Given the description of an element on the screen output the (x, y) to click on. 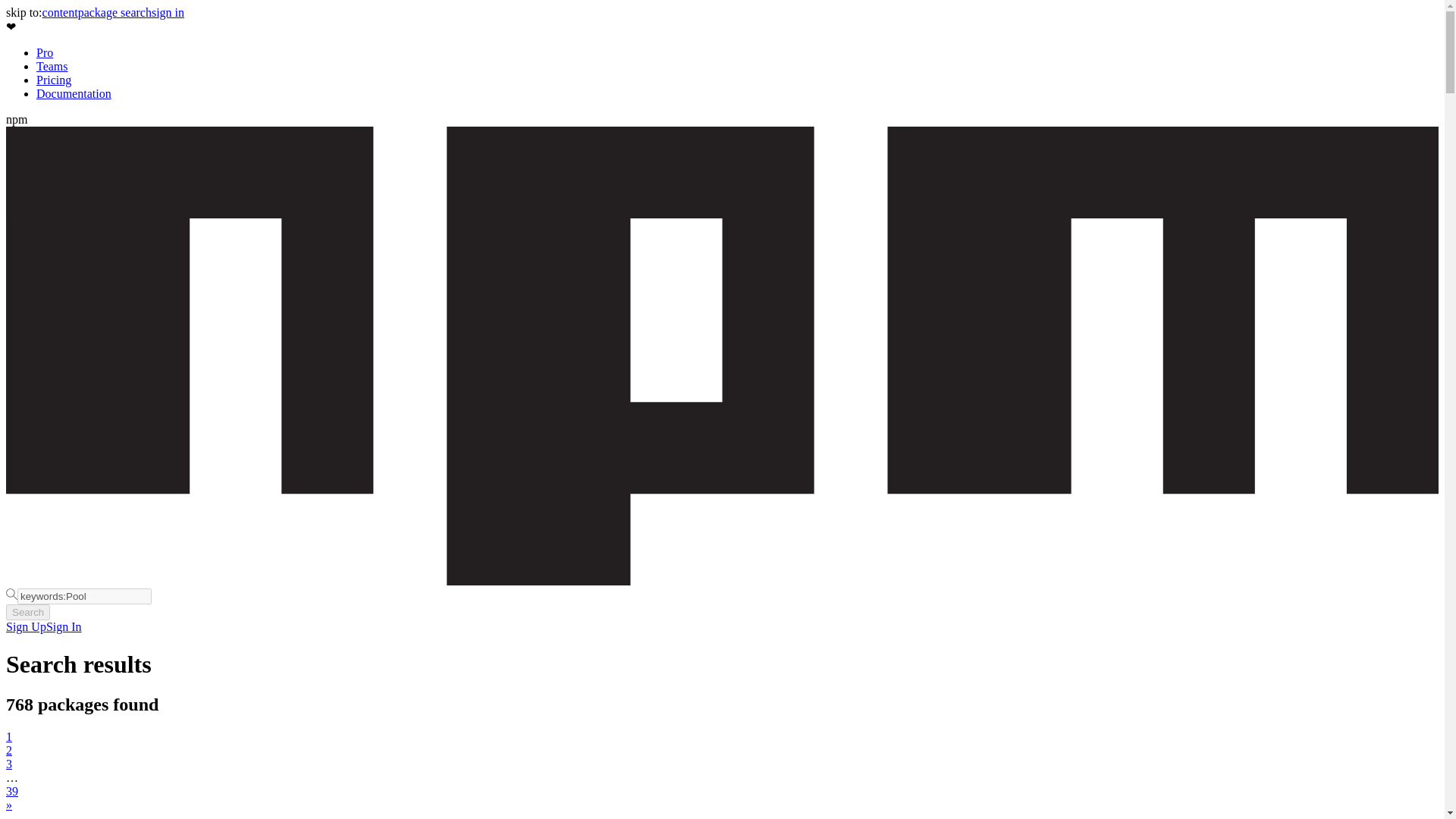
2 (8, 749)
keywords:Pool (84, 596)
Search (27, 611)
sign in (167, 11)
1 (8, 736)
content (60, 11)
Pricing (53, 79)
Sign In (63, 626)
3 (8, 763)
39 (11, 790)
Pro (44, 51)
Teams (52, 65)
package search (114, 11)
Documentation (74, 92)
keywords:Pool (84, 596)
